Given the description of an element on the screen output the (x, y) to click on. 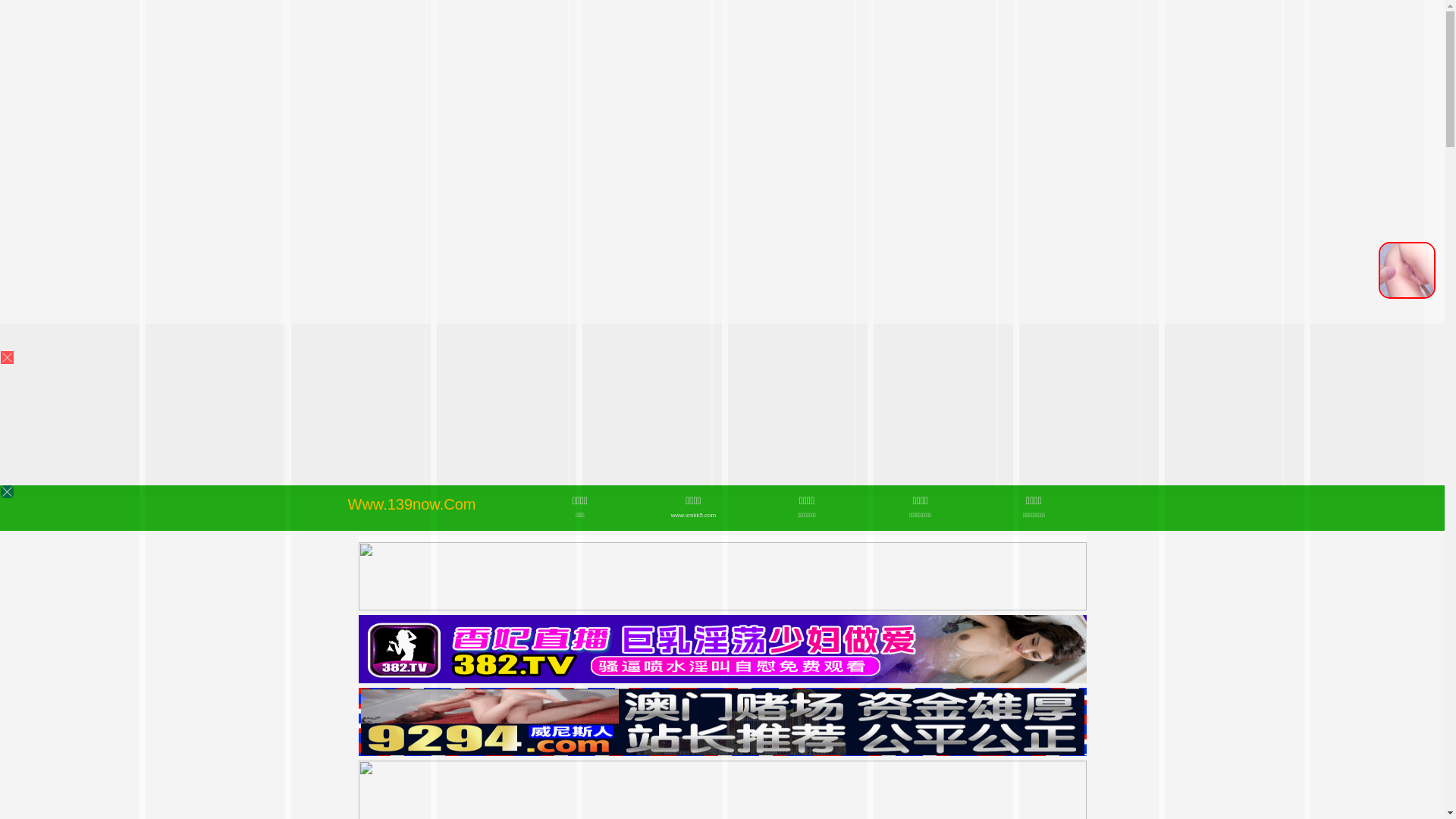
Www.139now.Com Element type: text (412, 503)
www.xmkk5.com Element type: text (693, 515)
